Given the description of an element on the screen output the (x, y) to click on. 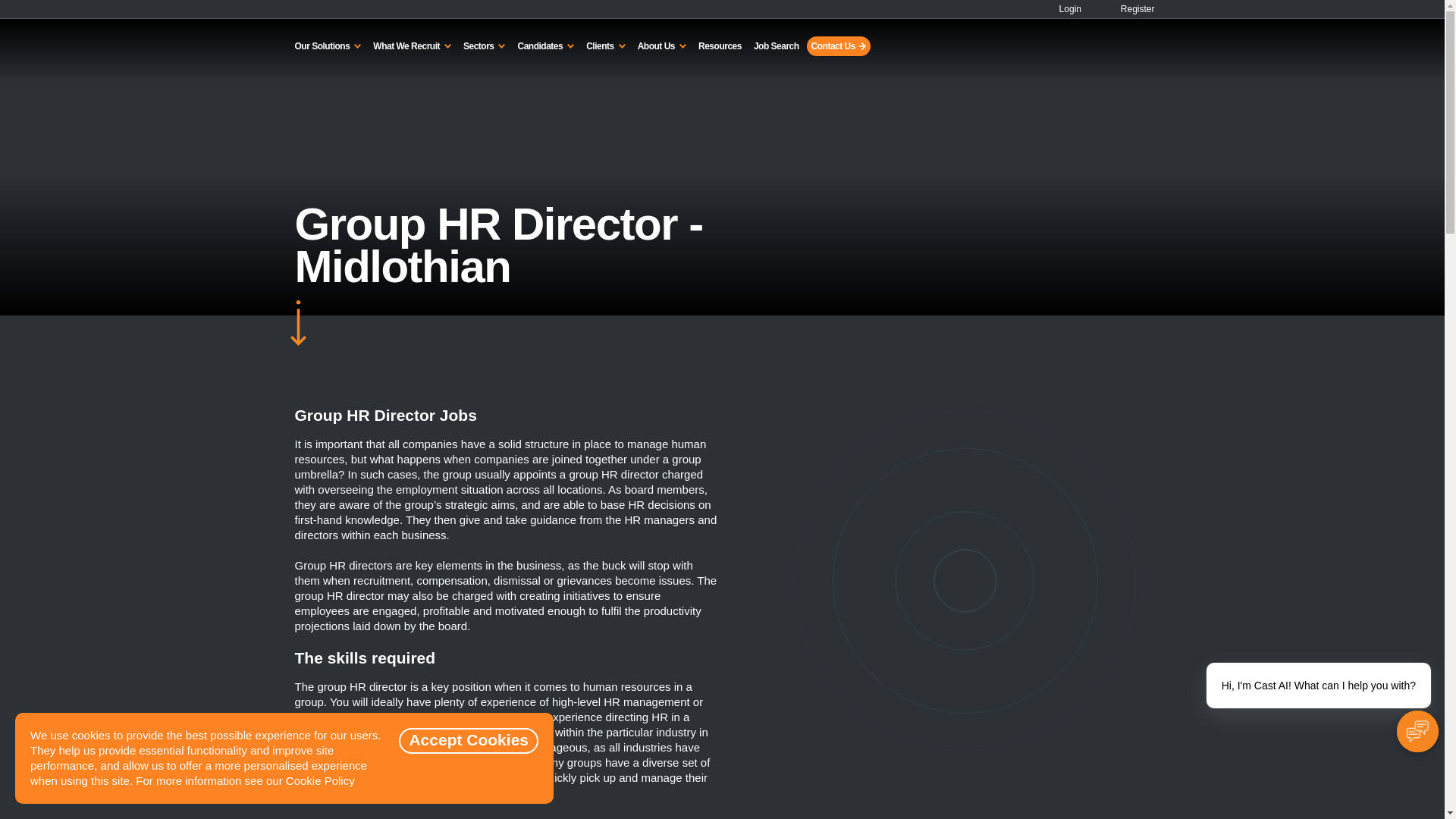
Login (1063, 9)
What We Recruit (411, 46)
Register (1128, 9)
Sectors (484, 46)
Our Solutions (327, 46)
